Given the description of an element on the screen output the (x, y) to click on. 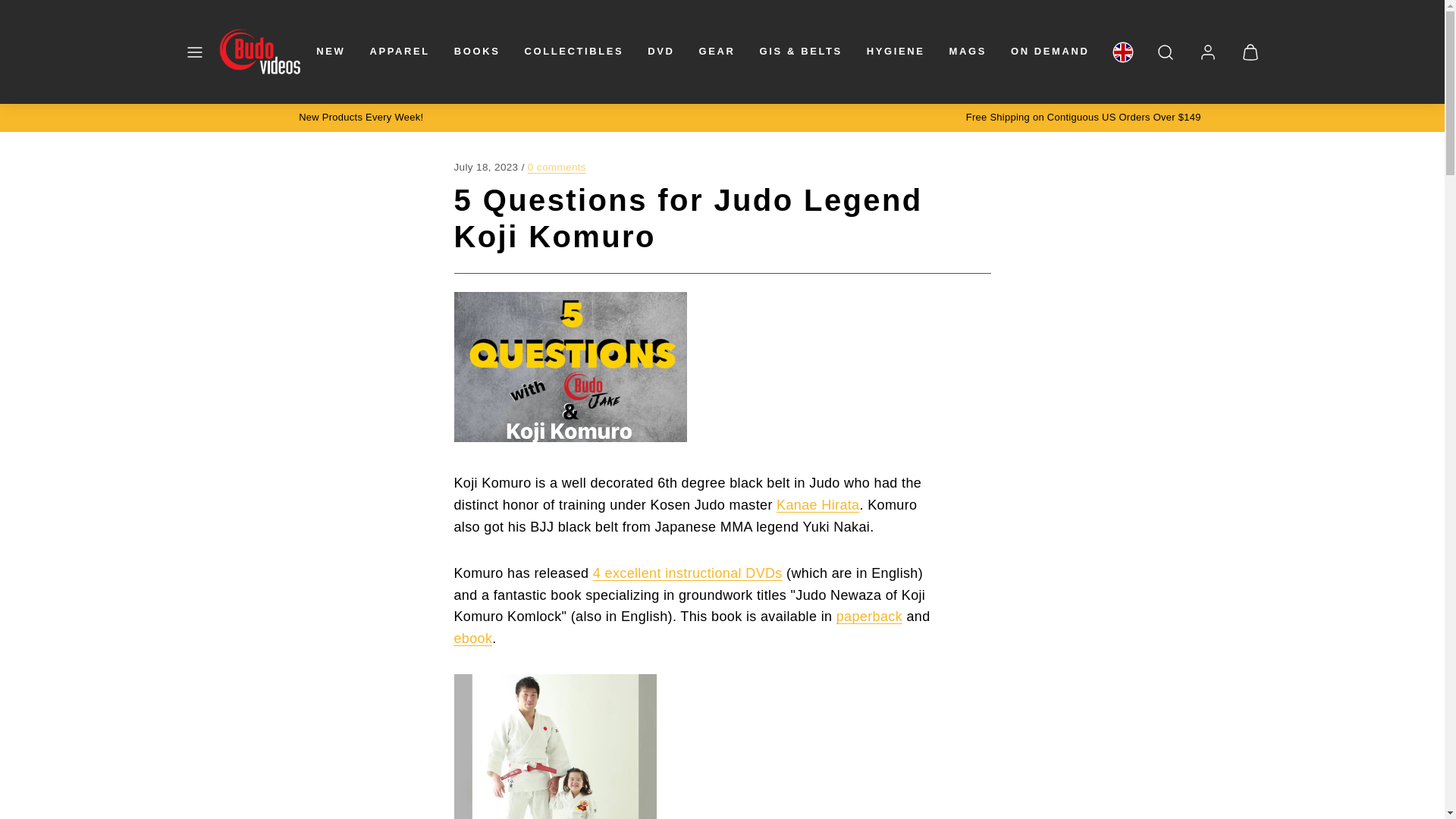
MAGS (967, 51)
HYGIENE (895, 51)
DVD (660, 51)
COLLECTIBLES (573, 51)
MENU (194, 52)
BOOKS (477, 51)
GEAR (717, 51)
SEARCH (1164, 52)
ON DEMAND (1050, 51)
NEW (330, 51)
